Given the description of an element on the screen output the (x, y) to click on. 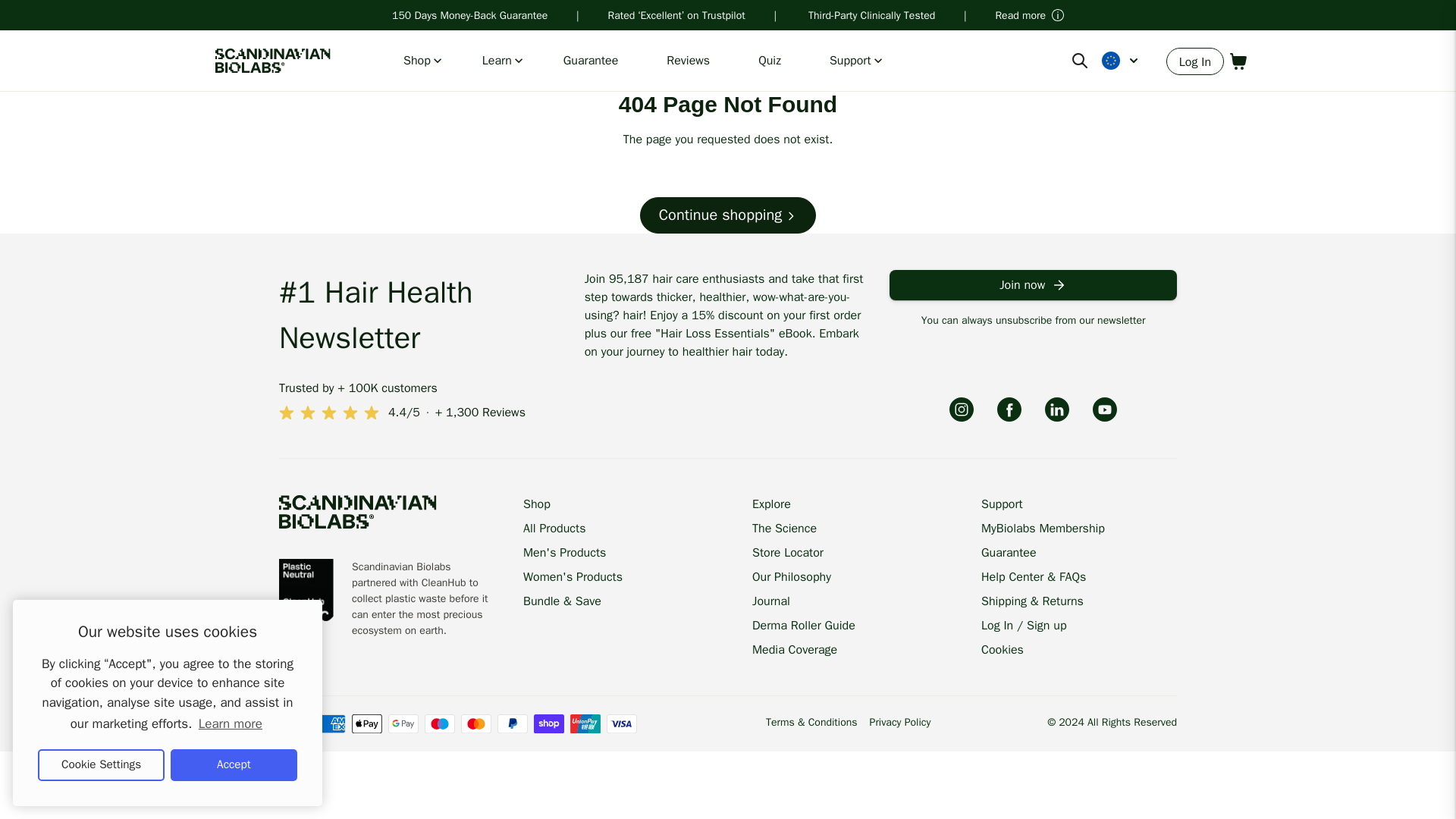
Accept (233, 765)
Cookie Settings (100, 765)
Learn more (229, 723)
